Given the description of an element on the screen output the (x, y) to click on. 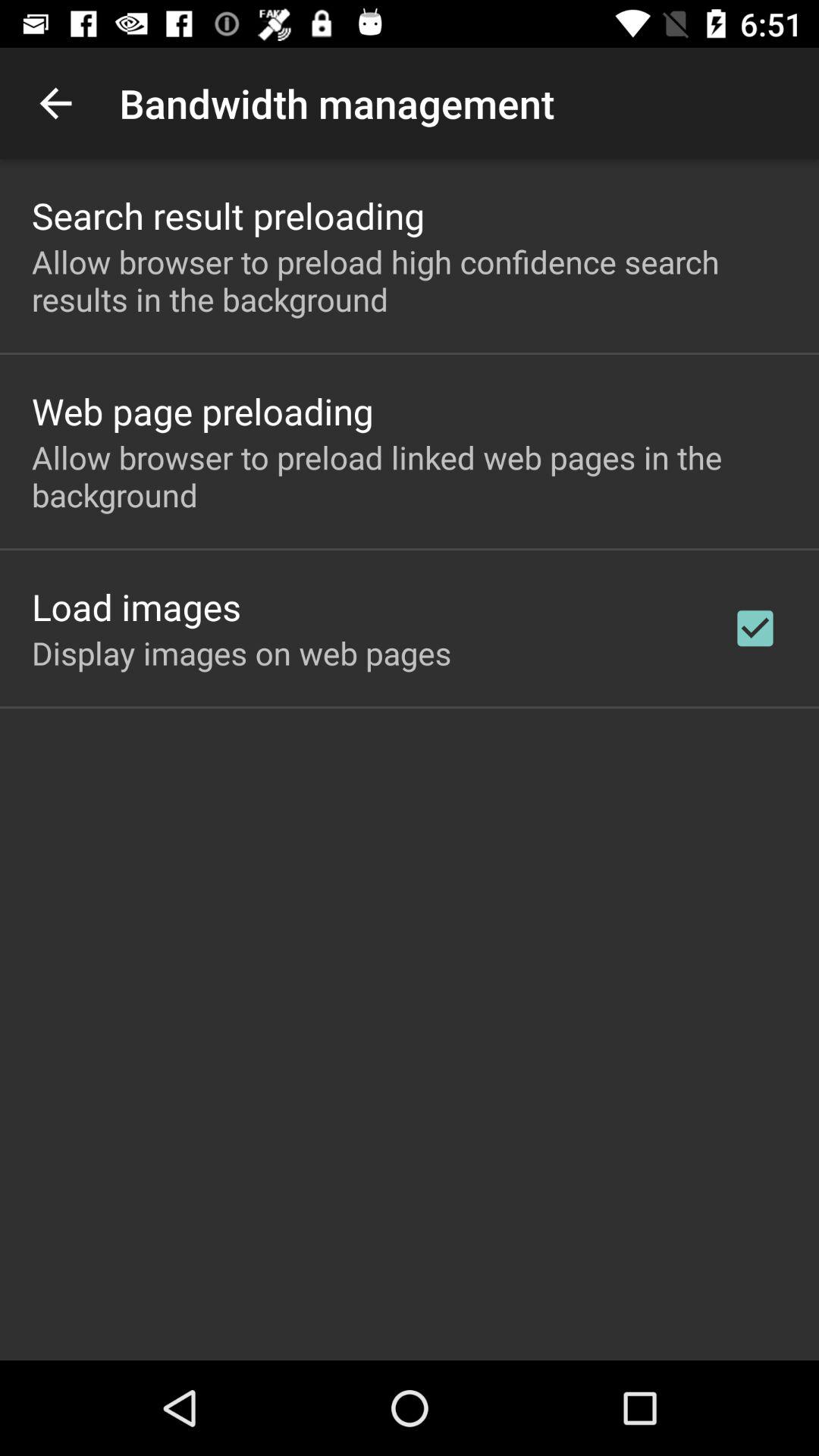
swipe to web page preloading (202, 410)
